Given the description of an element on the screen output the (x, y) to click on. 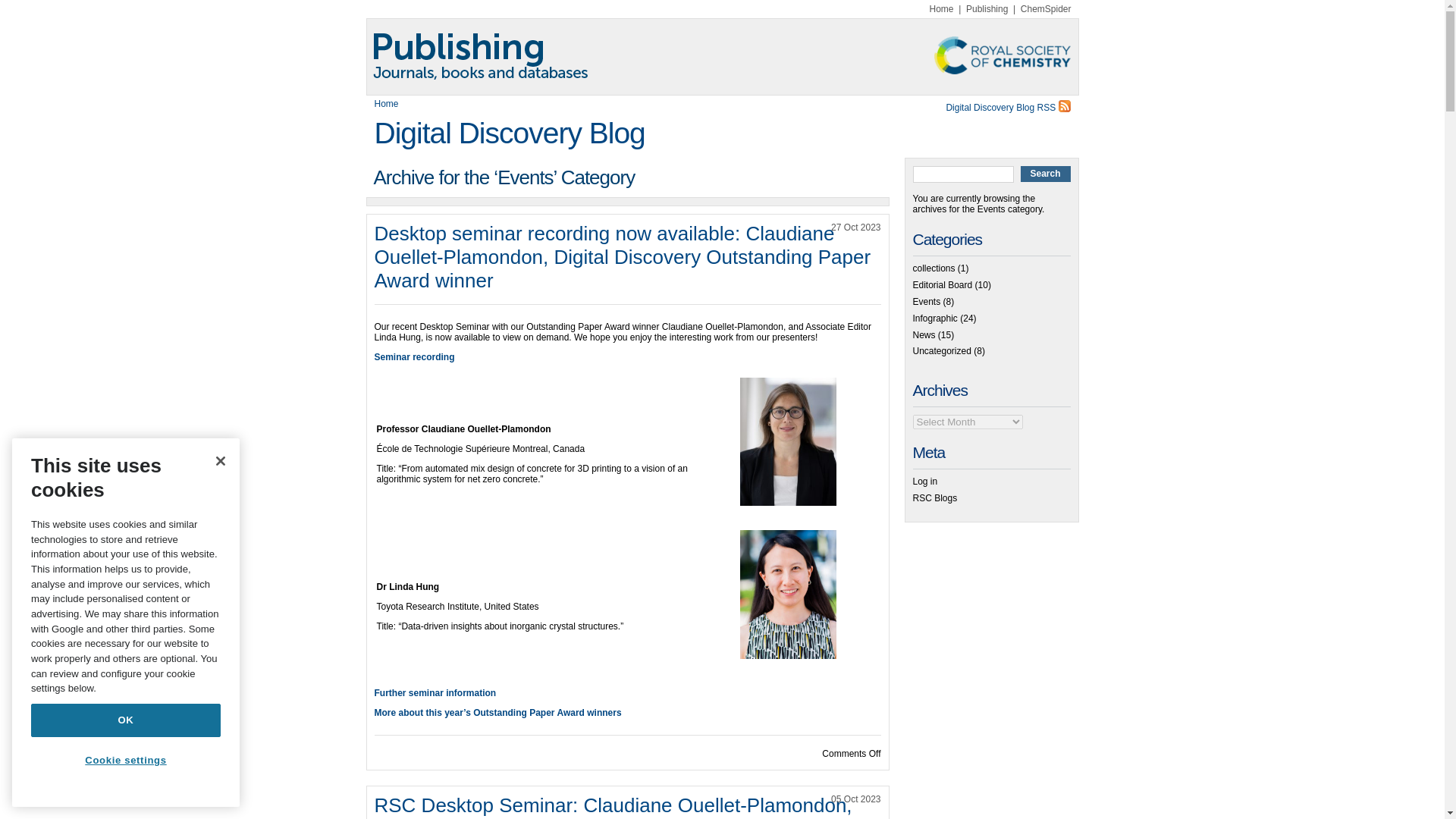
RSC Blogs (935, 498)
Seminar recording (414, 357)
ChemSpider (1045, 9)
News (924, 335)
Uncategorized (941, 350)
Home (941, 9)
Further seminar information (435, 692)
Events (926, 301)
Publishing (986, 9)
Infographic (935, 317)
Editorial Board (942, 285)
Publishing Blogs (722, 56)
